Given the description of an element on the screen output the (x, y) to click on. 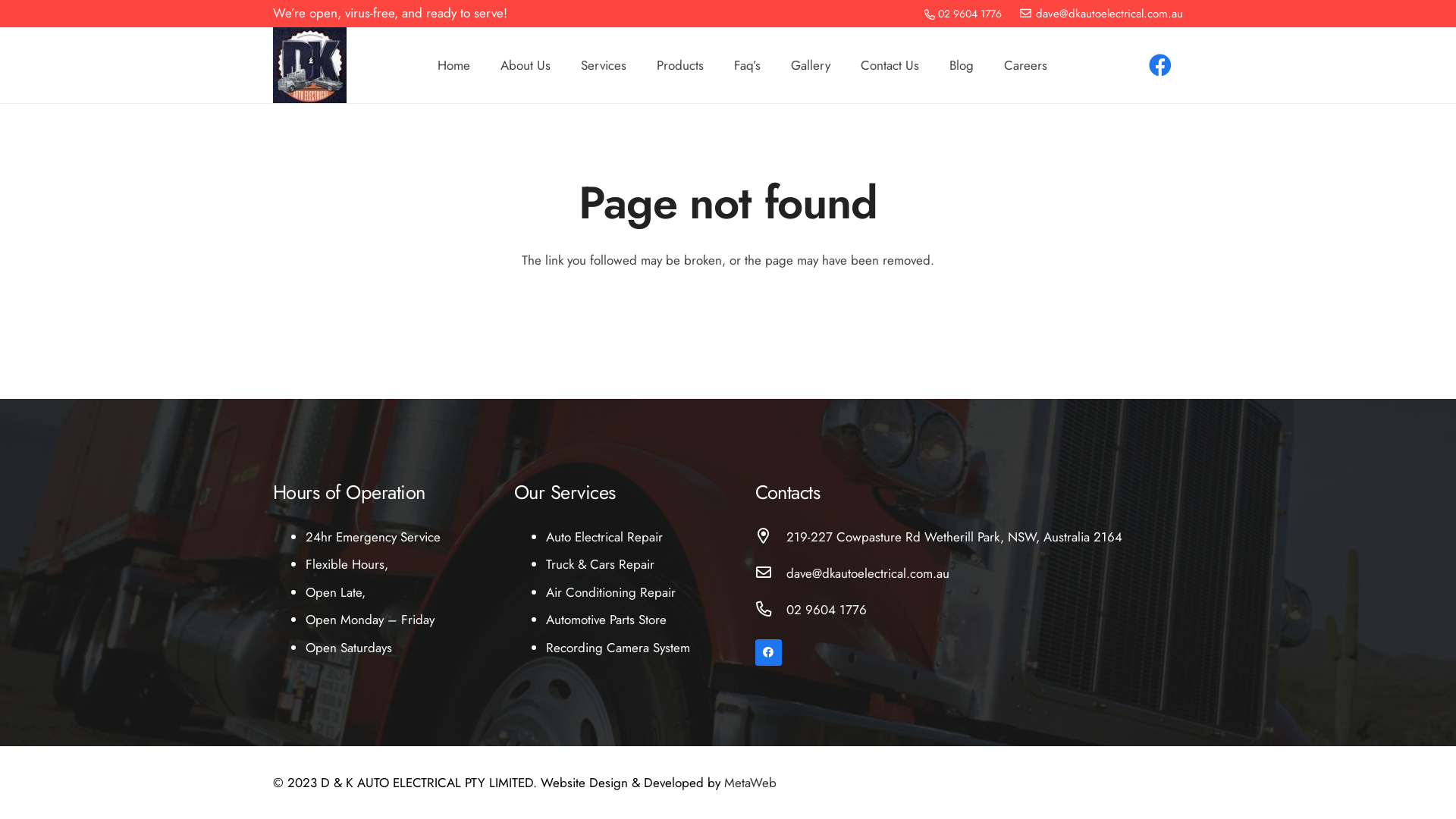
Services Element type: text (603, 65)
MetaWeb Element type: text (750, 782)
Products Element type: text (679, 65)
Careers Element type: text (1025, 65)
02 9604 1776 Element type: text (962, 13)
Blog Element type: text (961, 65)
219-227 Cowpasture Rd Wetherill Park, NSW, Australia 2164 Element type: text (954, 536)
Facebook Element type: hover (768, 652)
Facebook Element type: hover (1160, 64)
Automotive Parts Store Element type: text (606, 619)
dave@dkautoelectrical.com.au Element type: text (867, 572)
Auto Electrical Repair Element type: text (604, 536)
02 9604 1776 Element type: text (826, 609)
dave@dkautoelectrical.com.au Element type: text (1101, 13)
Truck & Cars Repair Element type: text (600, 564)
Contact Us Element type: text (888, 65)
Recording Camera System Element type: text (618, 647)
About Us Element type: text (525, 65)
Gallery Element type: text (809, 65)
Air Conditioning Repair Element type: text (610, 591)
Home Element type: text (452, 65)
